Given the description of an element on the screen output the (x, y) to click on. 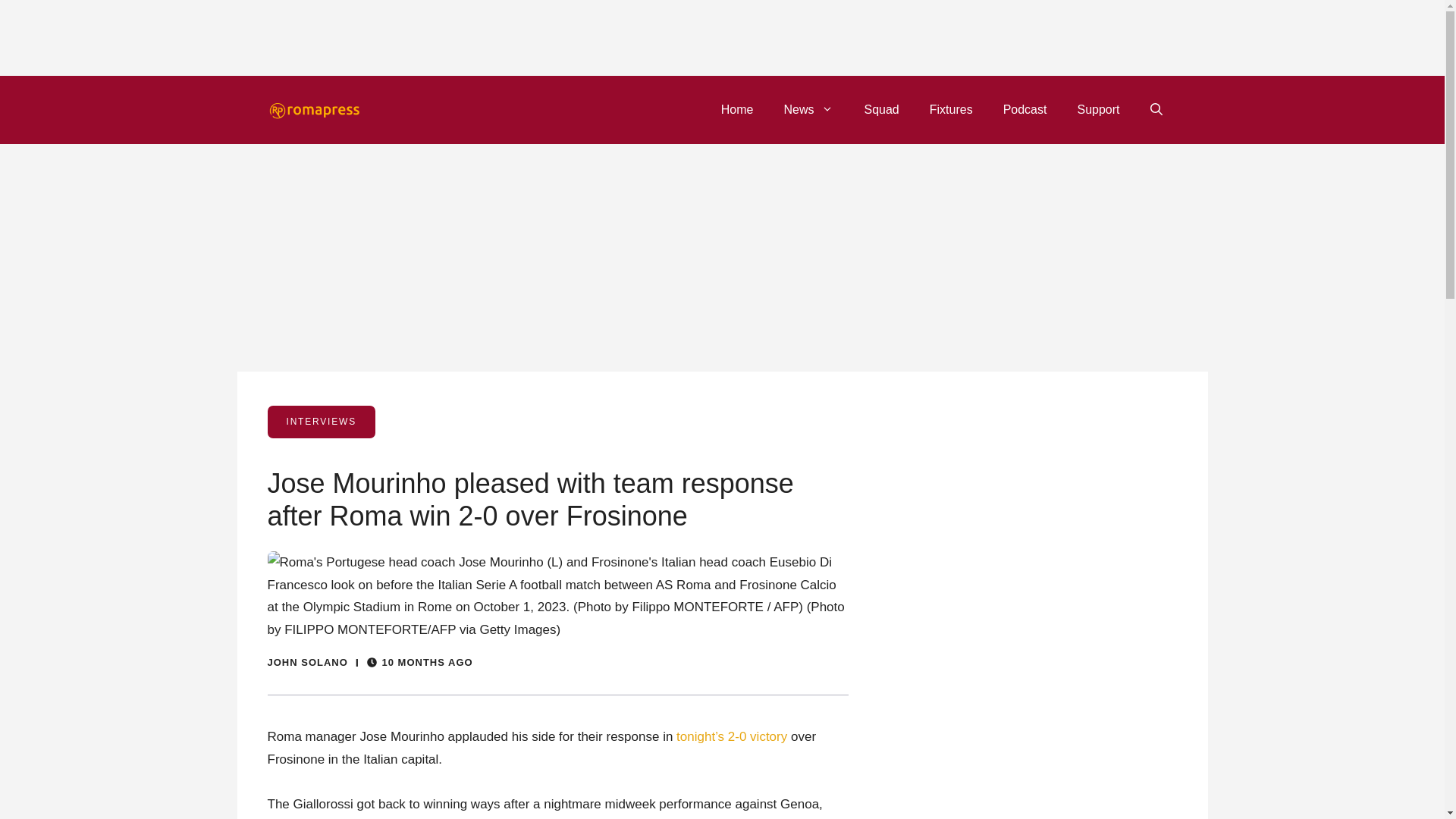
Squad (881, 109)
Support (1097, 109)
Fixtures (951, 109)
News (808, 109)
Home (737, 109)
Podcast (1025, 109)
